Given the description of an element on the screen output the (x, y) to click on. 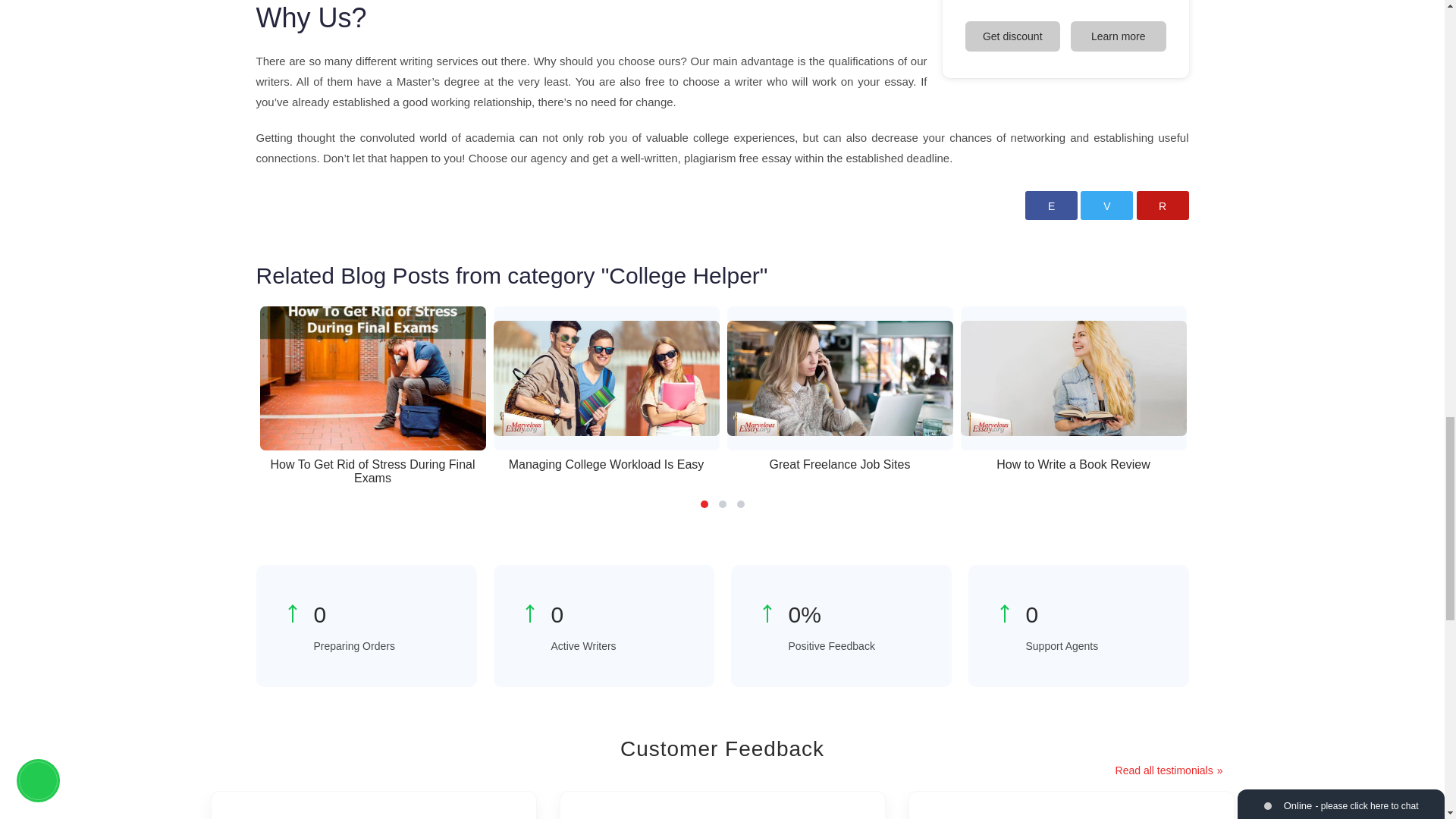
Great Freelance Job Sites (839, 378)
Share on Pinterest (1161, 205)
How to Write a Book Review (1072, 378)
Managing College Workload Is Easy (606, 378)
Share on Twitter (1106, 205)
How To Get Rid of Stress During Final Exams (371, 378)
Share on Facebook (1051, 205)
